Given the description of an element on the screen output the (x, y) to click on. 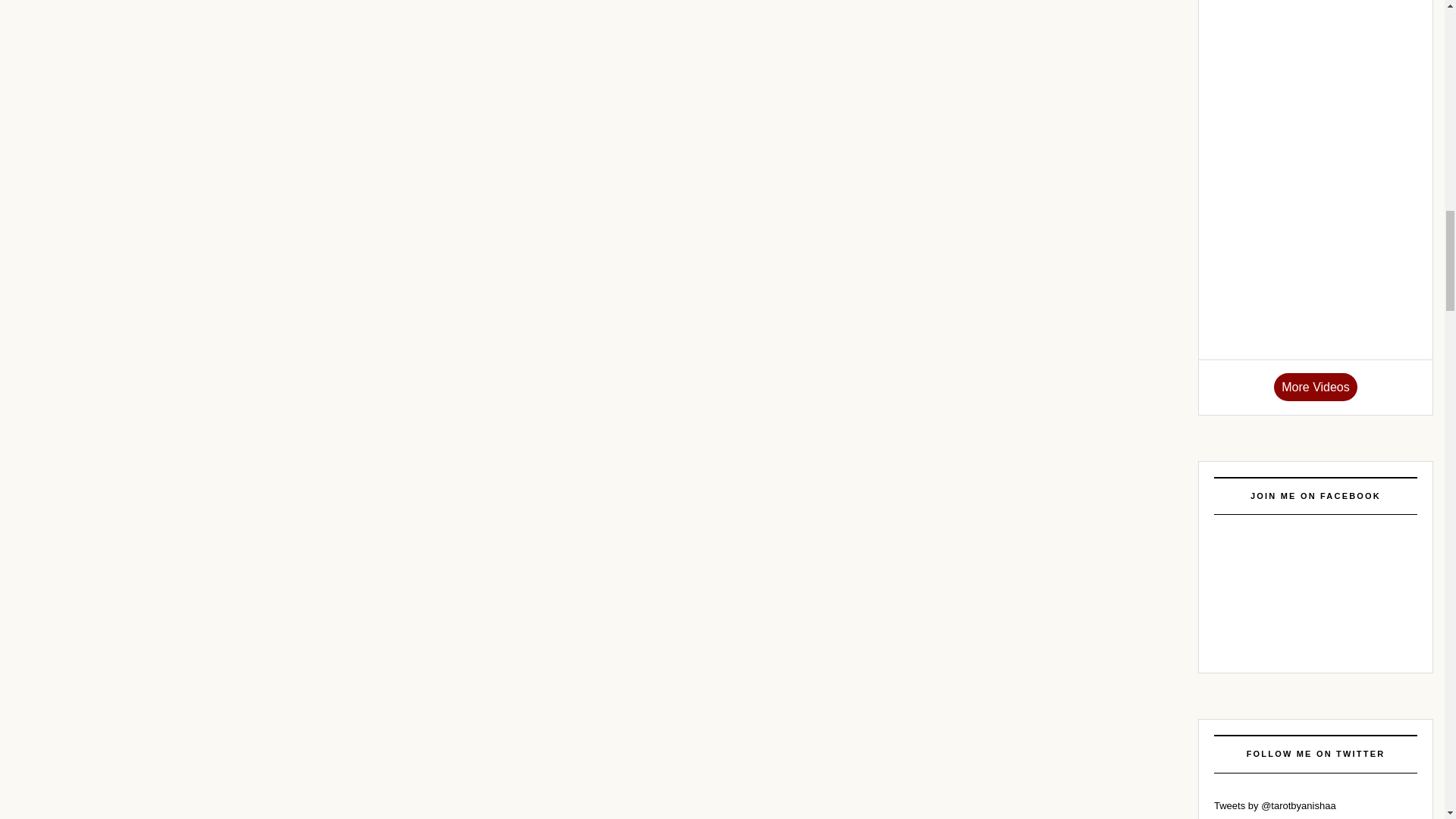
More Videos (1315, 387)
